Given the description of an element on the screen output the (x, y) to click on. 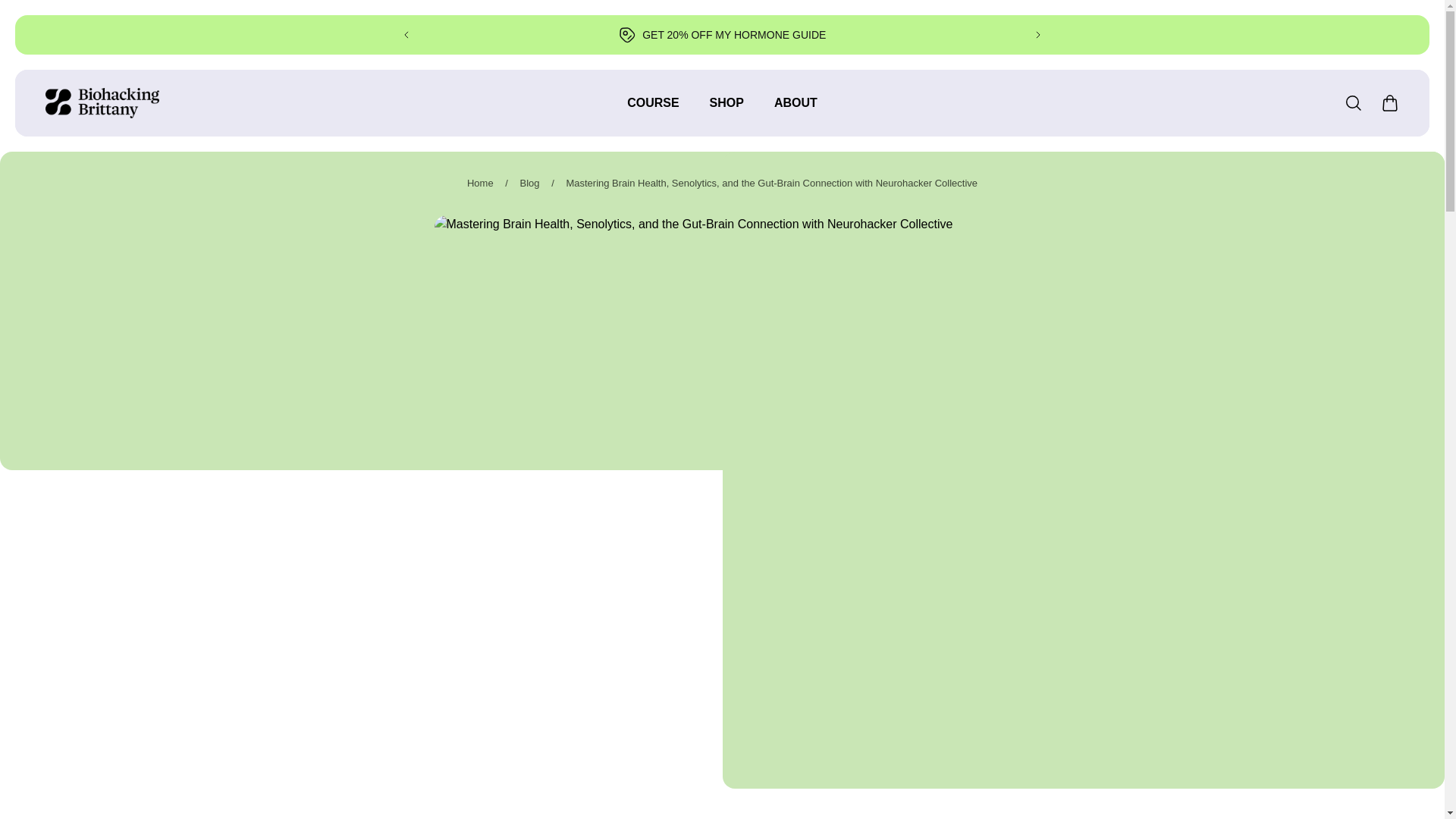
COURSE (652, 110)
Blog (529, 183)
ABOUT (795, 110)
SHOP (726, 110)
Home (480, 183)
